Given the description of an element on the screen output the (x, y) to click on. 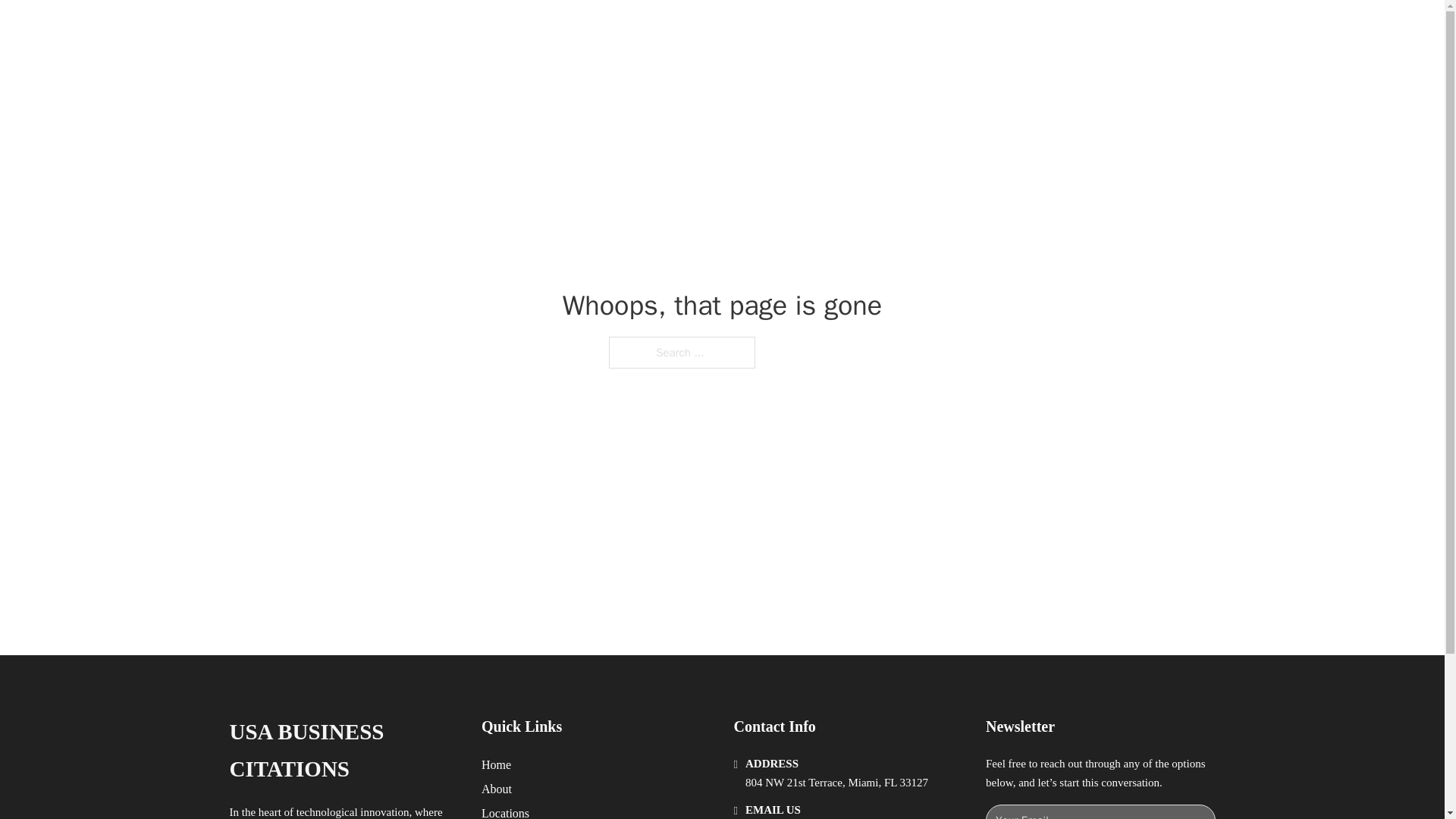
Locations (505, 811)
LOCATIONS (990, 29)
Home (496, 764)
USA BUSINESS CITATIONS (439, 28)
HOME (919, 29)
About (496, 788)
USA BUSINESS CITATIONS (343, 750)
